Given the description of an element on the screen output the (x, y) to click on. 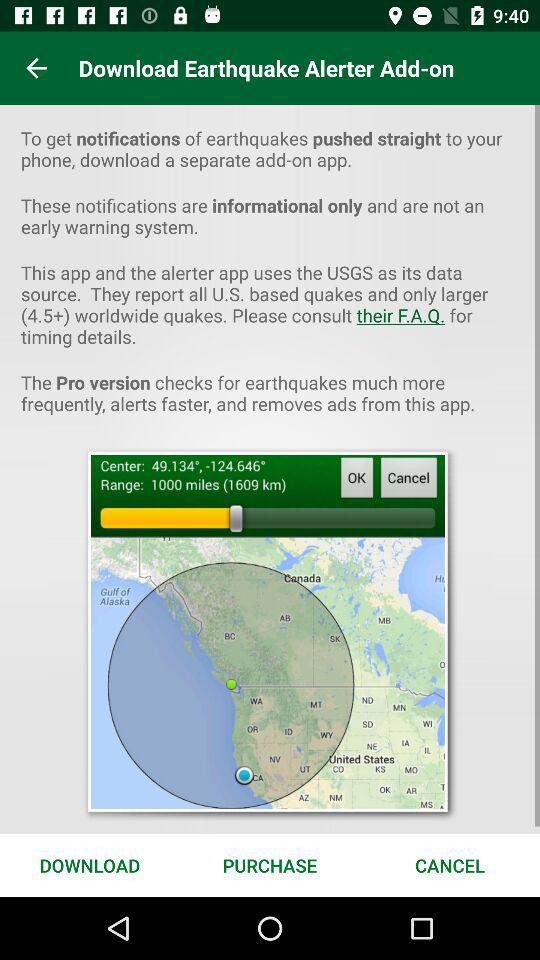
choose item next to the purchase icon (450, 864)
